Given the description of an element on the screen output the (x, y) to click on. 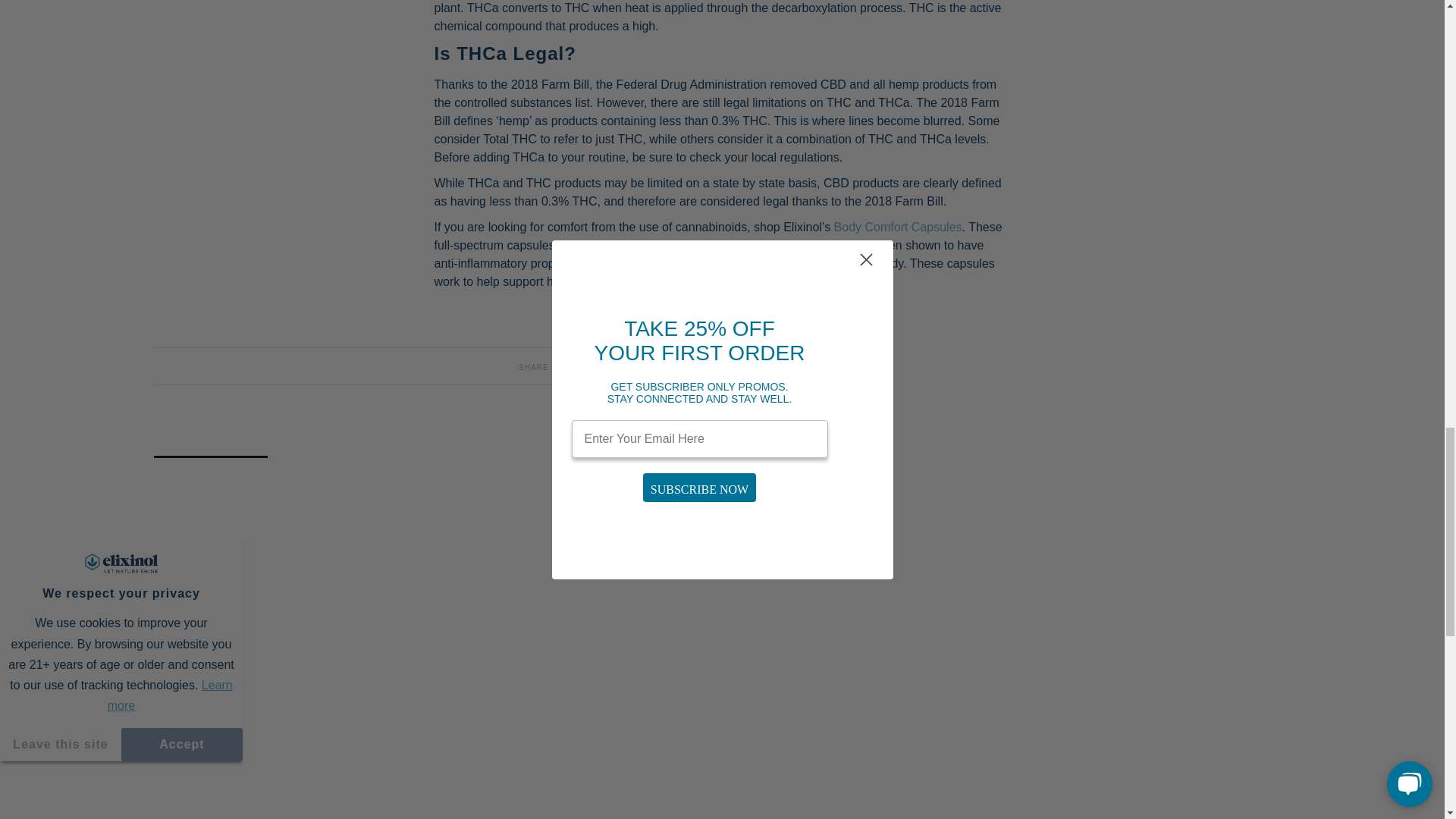
Share on Pintrest (565, 365)
